Given the description of an element on the screen output the (x, y) to click on. 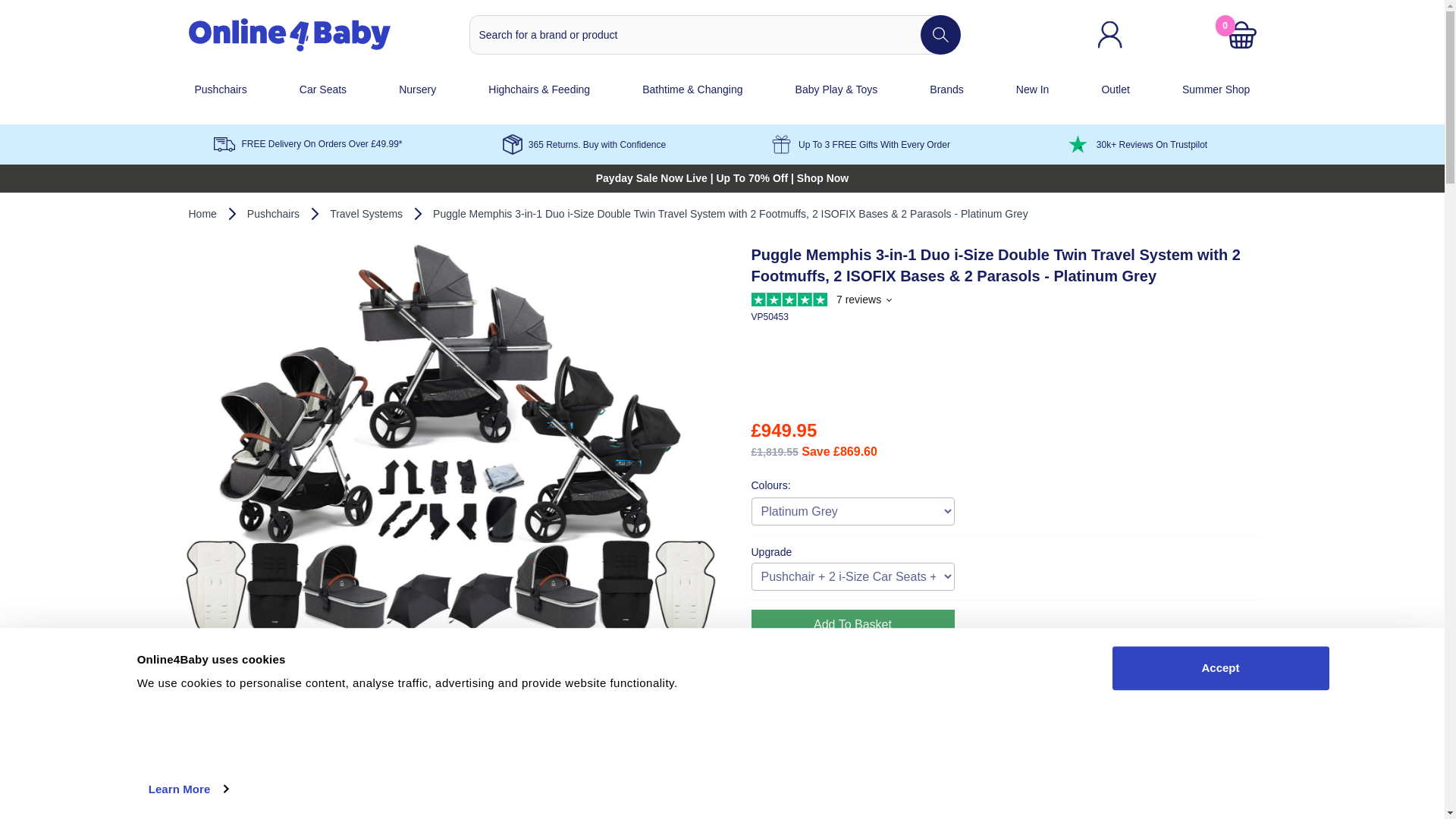
Learn More (188, 789)
